Given the description of an element on the screen output the (x, y) to click on. 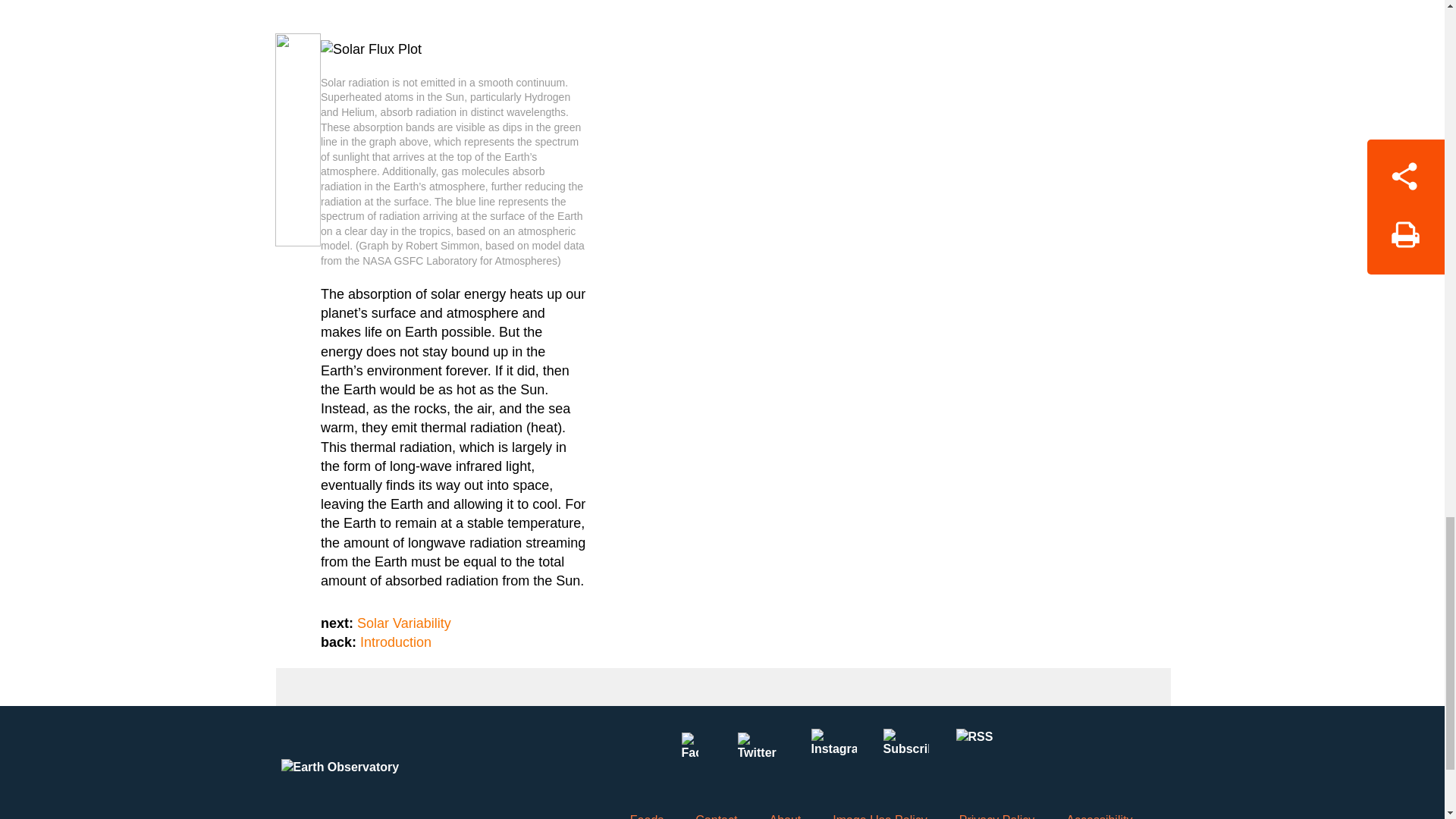
Subscribe (905, 751)
Facebook (689, 751)
Twitter (761, 751)
RSS (977, 751)
Earth Observatory (369, 768)
Instagram (833, 751)
